Given the description of an element on the screen output the (x, y) to click on. 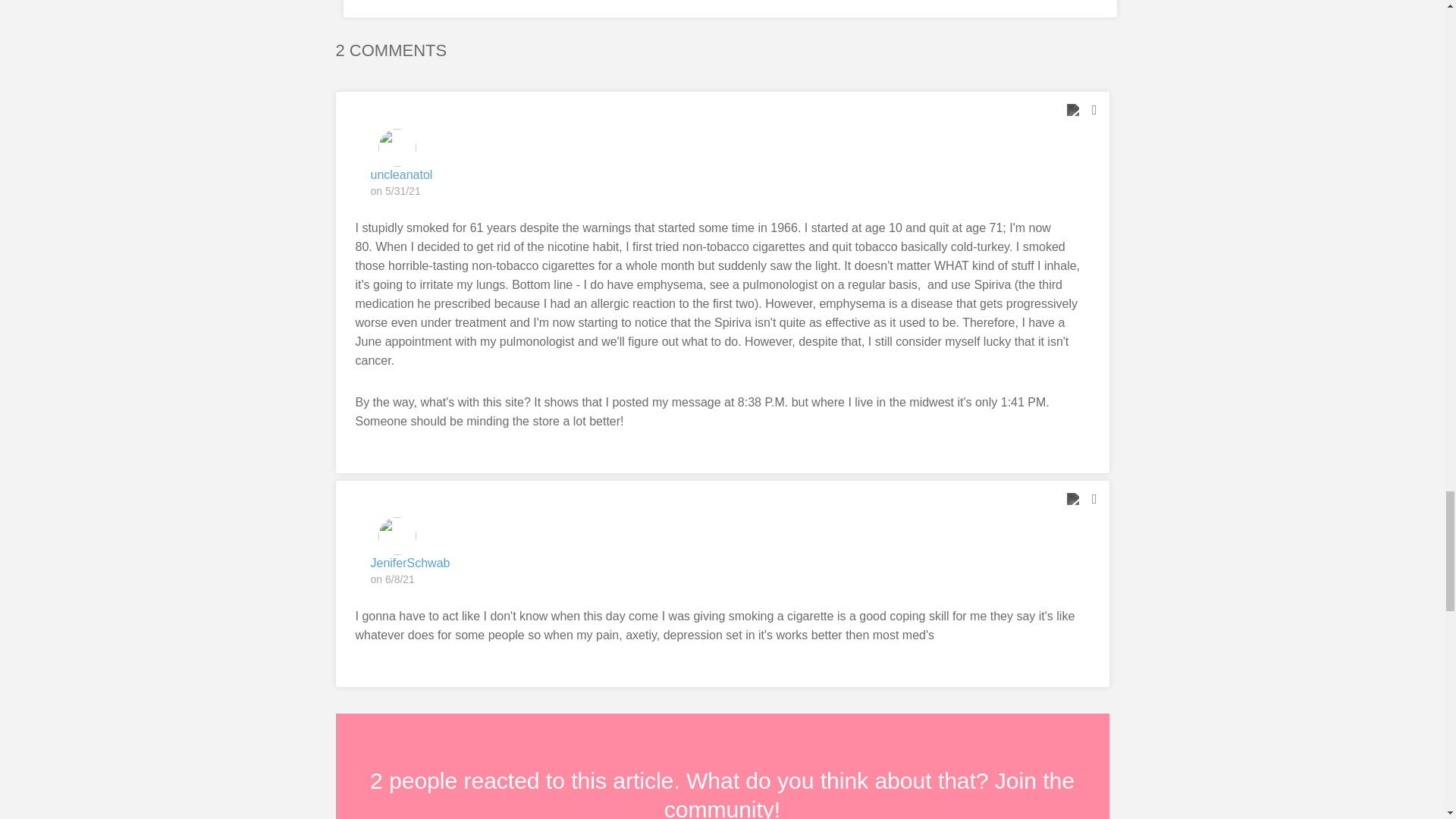
I support this comment (1072, 109)
